Given the description of an element on the screen output the (x, y) to click on. 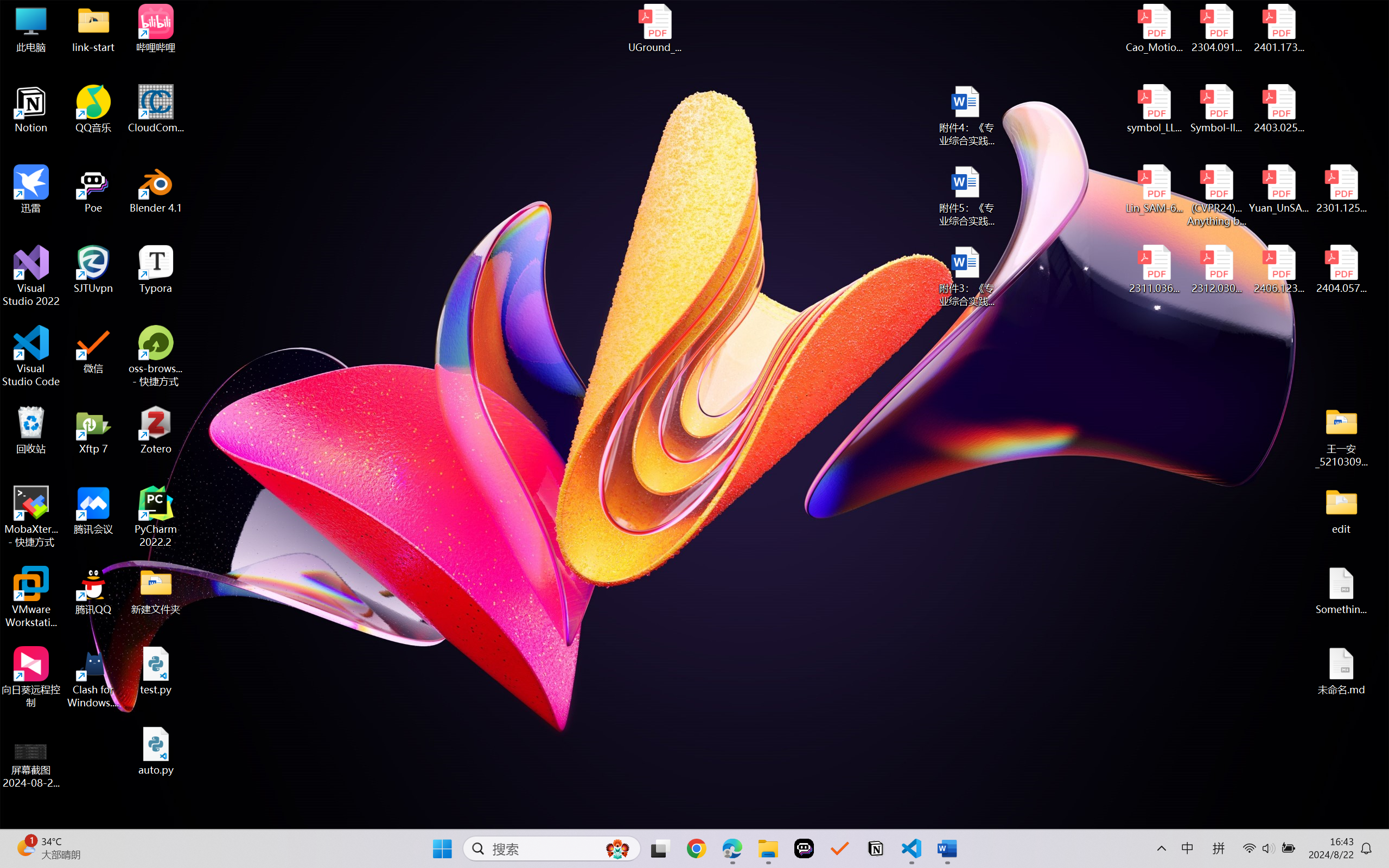
2401.17399v1.pdf (1278, 28)
CloudCompare (156, 109)
2406.12373v2.pdf (1278, 269)
2301.12597v3.pdf (1340, 189)
